Given the description of an element on the screen output the (x, y) to click on. 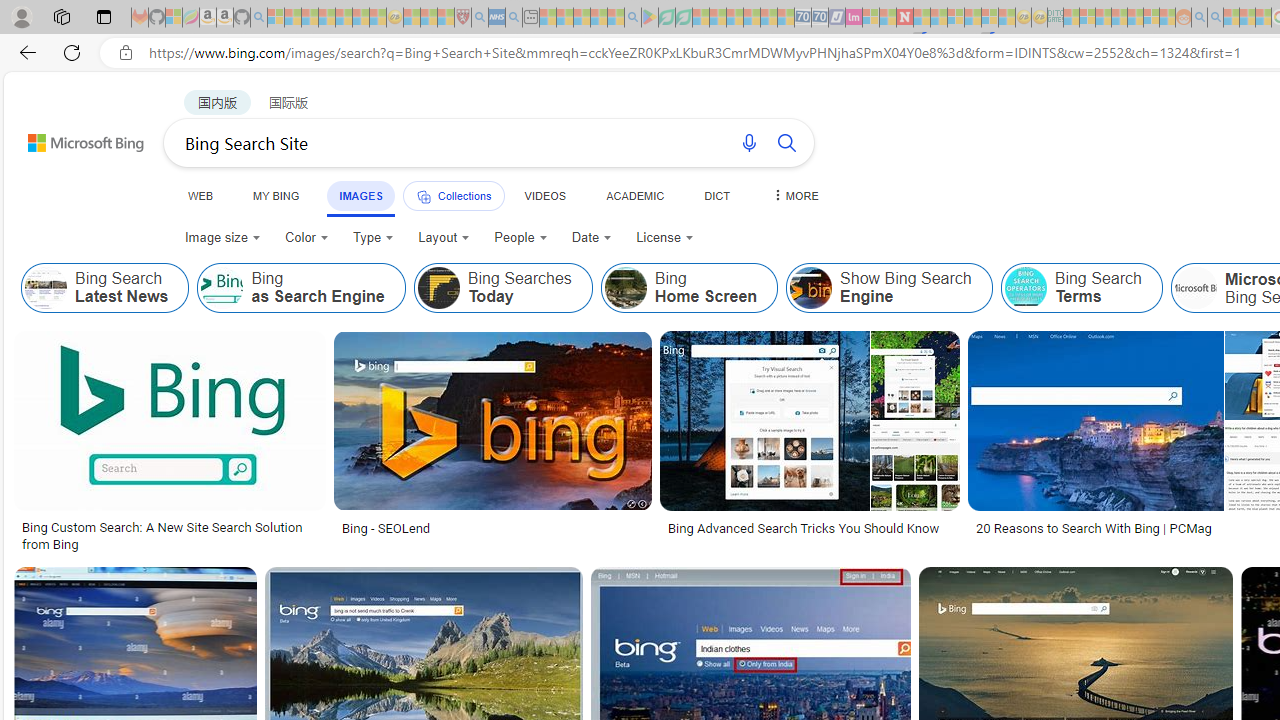
Bing Advanced Search Tricks You Should Know (810, 528)
Bing Search Terms (1025, 287)
Class: item col (1081, 287)
Bing Search Latest News (105, 287)
Image size (222, 237)
MY BING (276, 195)
